Given the description of an element on the screen output the (x, y) to click on. 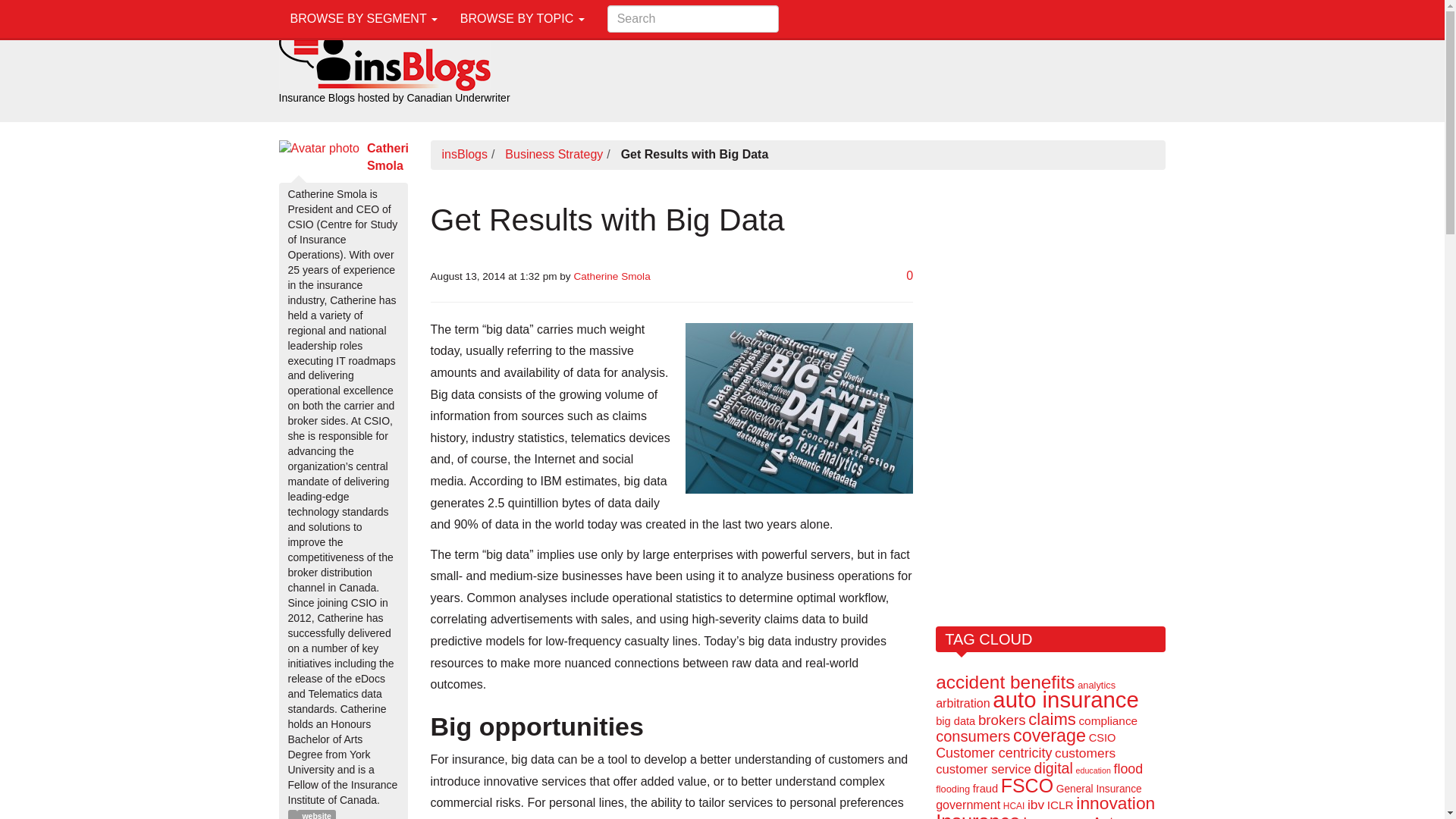
website (316, 814)
BROWSE BY TOPIC (521, 18)
Catherine Smola (394, 156)
Posts by Catherine Smola (611, 276)
Posts by Catherine Smola (394, 156)
insBlogs (384, 55)
BROWSE BY SEGMENT (363, 18)
Follow  on Twitter (293, 814)
